Given the description of an element on the screen output the (x, y) to click on. 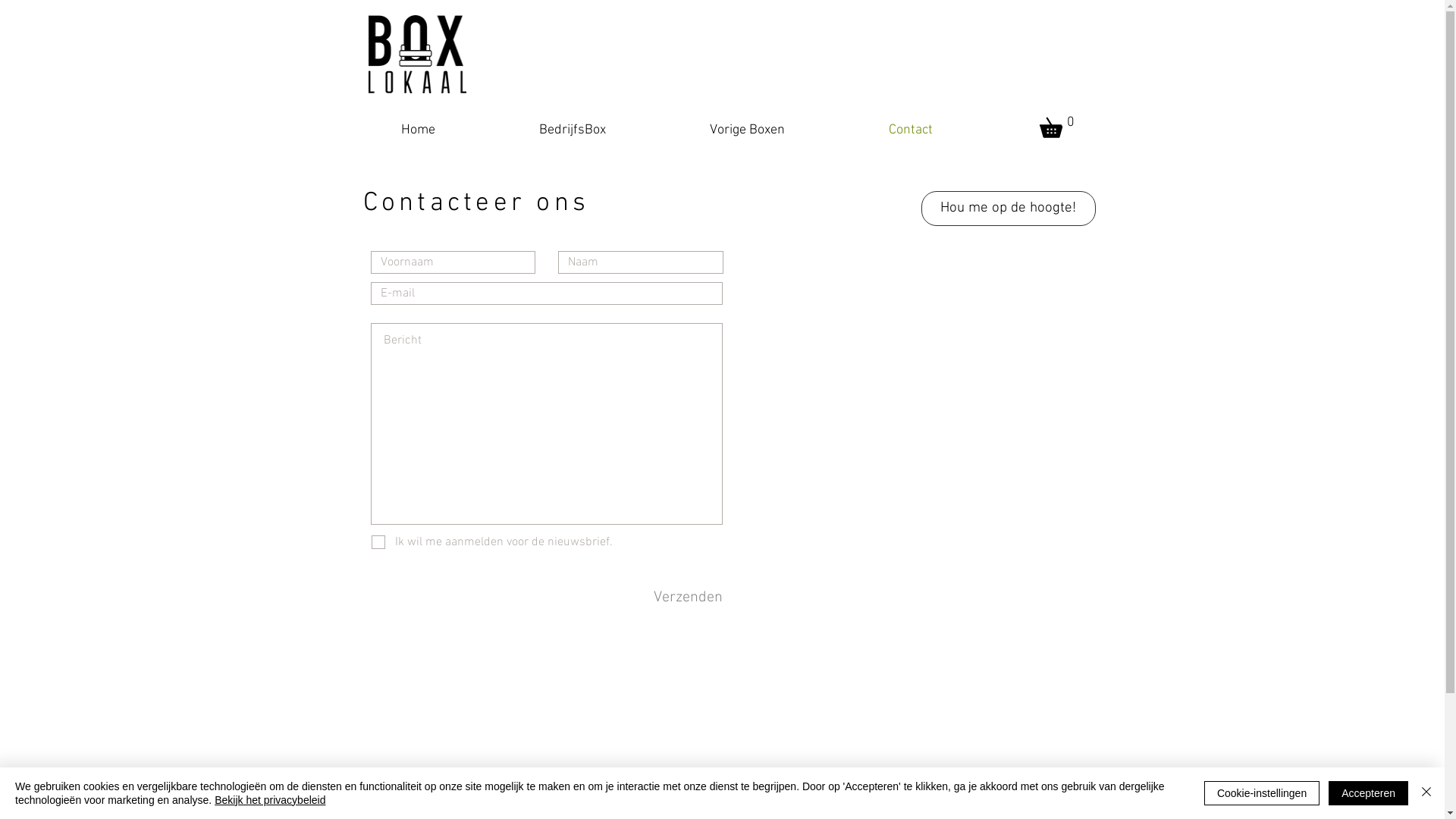
Accepteren Element type: text (1368, 793)
Bekijk het privacybeleid Element type: text (269, 799)
Vorige Boxen Element type: text (783, 129)
Contact Element type: text (947, 129)
Verzenden Element type: text (685, 597)
0 Element type: text (1059, 123)
Hou me op de hoogte! Element type: text (1007, 208)
BedrijfsBox Element type: text (608, 129)
Cookie-instellingen Element type: text (1261, 793)
Home Element type: text (454, 129)
